Given the description of an element on the screen output the (x, y) to click on. 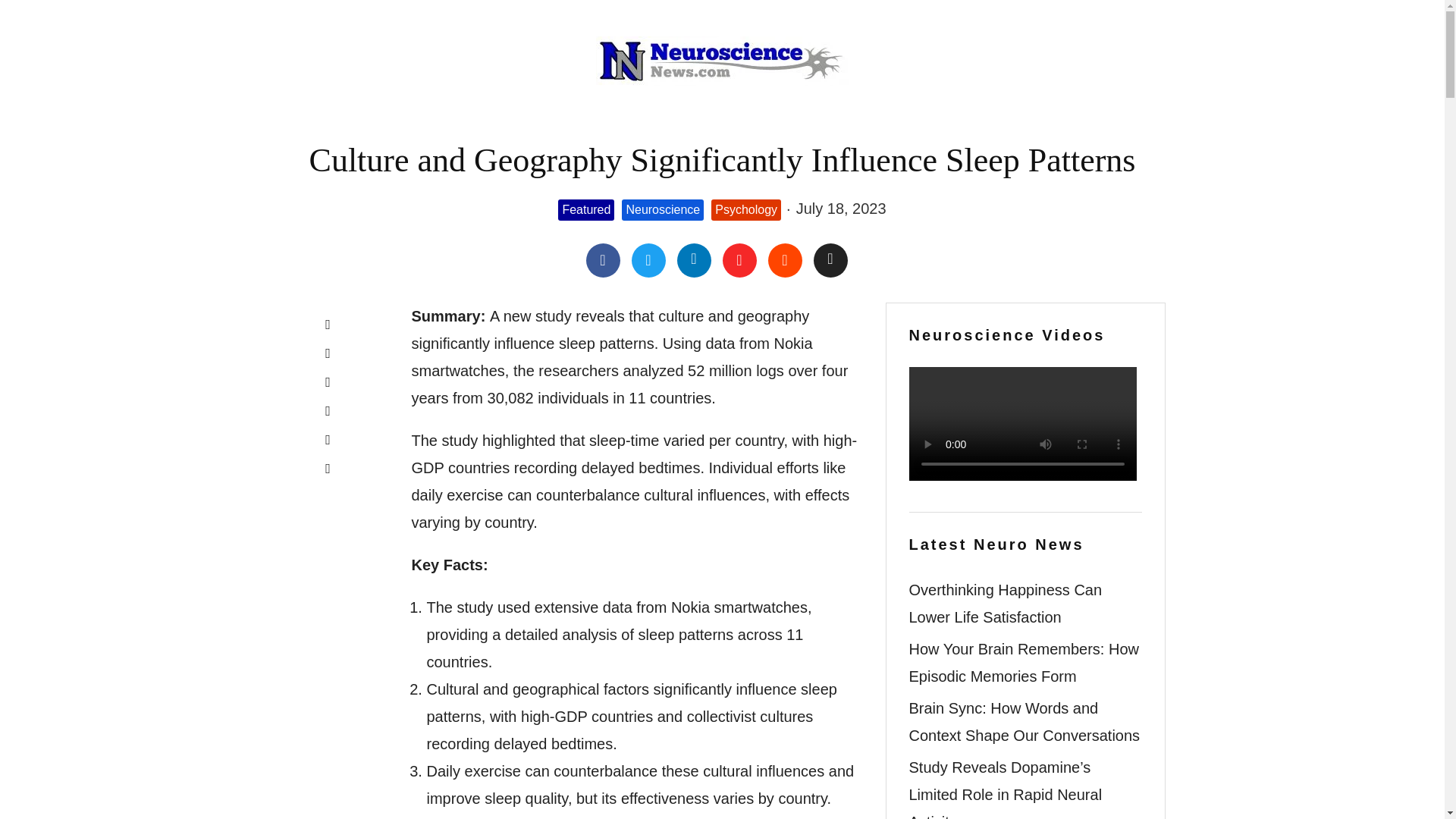
Neuroscience (662, 210)
Featured (585, 210)
Psychology (745, 210)
